Given the description of an element on the screen output the (x, y) to click on. 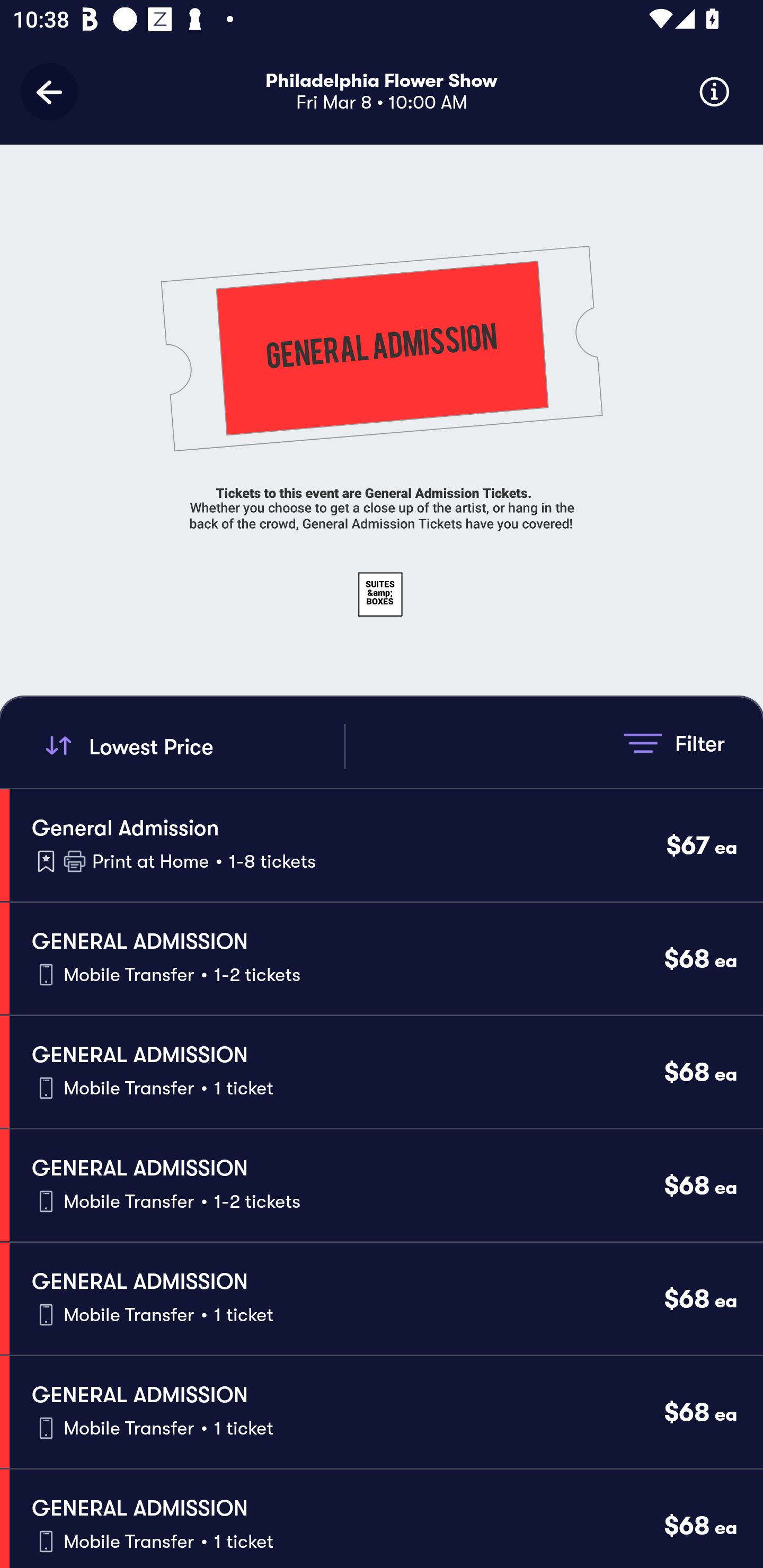
Lowest Price (191, 746)
Filter (674, 743)
